Given the description of an element on the screen output the (x, y) to click on. 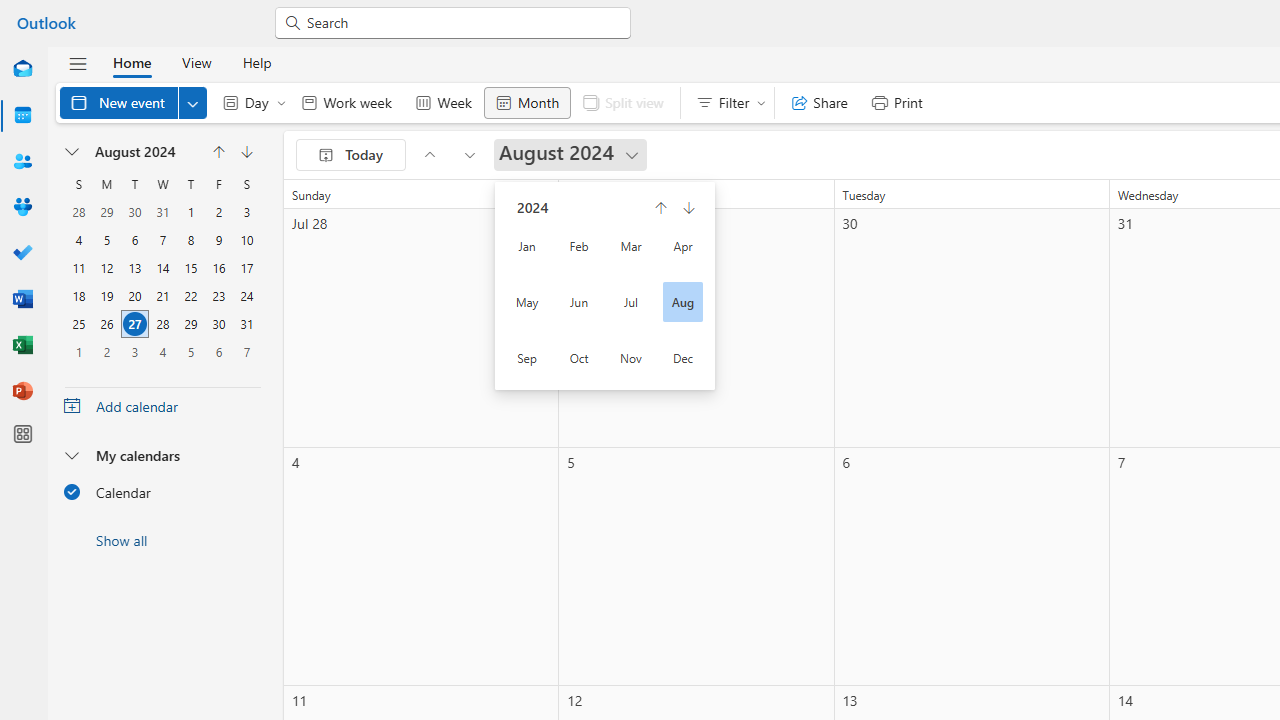
To Do (22, 254)
26, August, 2024 (107, 323)
Go to previous month July 2024 (429, 154)
18, August, 2024 (78, 295)
Week (443, 102)
Sunday (79, 183)
20, August, 2024 (134, 296)
Wednesday (162, 183)
19, August, 2024 (106, 295)
Hide navigation pane (77, 63)
31, July, 2024 (162, 212)
7, September, 2024 (246, 351)
4, August, 2024 (79, 240)
